Given the description of an element on the screen output the (x, y) to click on. 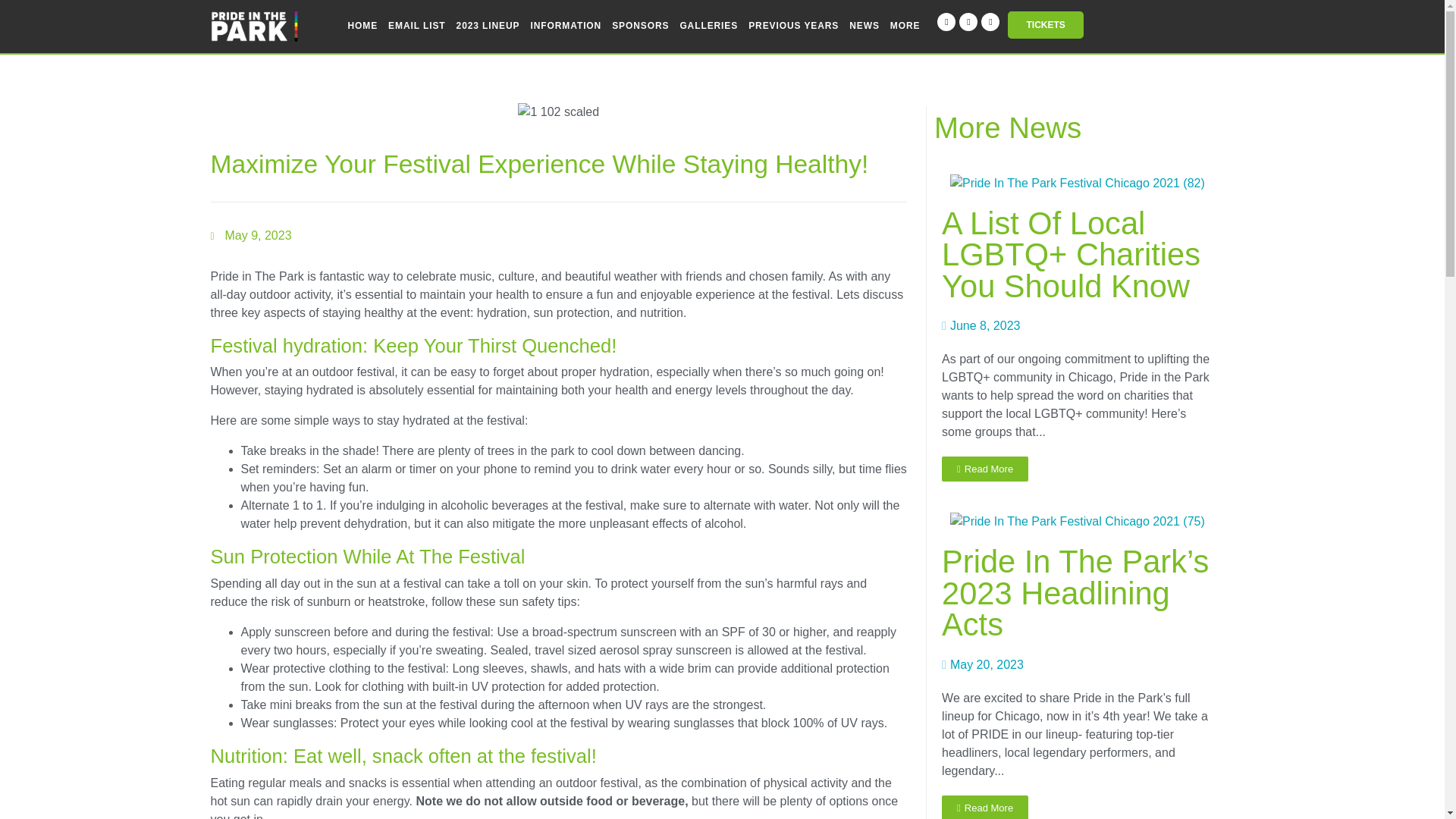
GALLERIES (708, 25)
EMAIL LIST (415, 25)
2023 LINEUP (488, 25)
MORE (905, 25)
HOME (363, 25)
SPONSORS (640, 25)
1 102 scaled (558, 112)
NEWS (864, 25)
INFORMATION (565, 25)
PREVIOUS YEARS (793, 25)
